Given the description of an element on the screen output the (x, y) to click on. 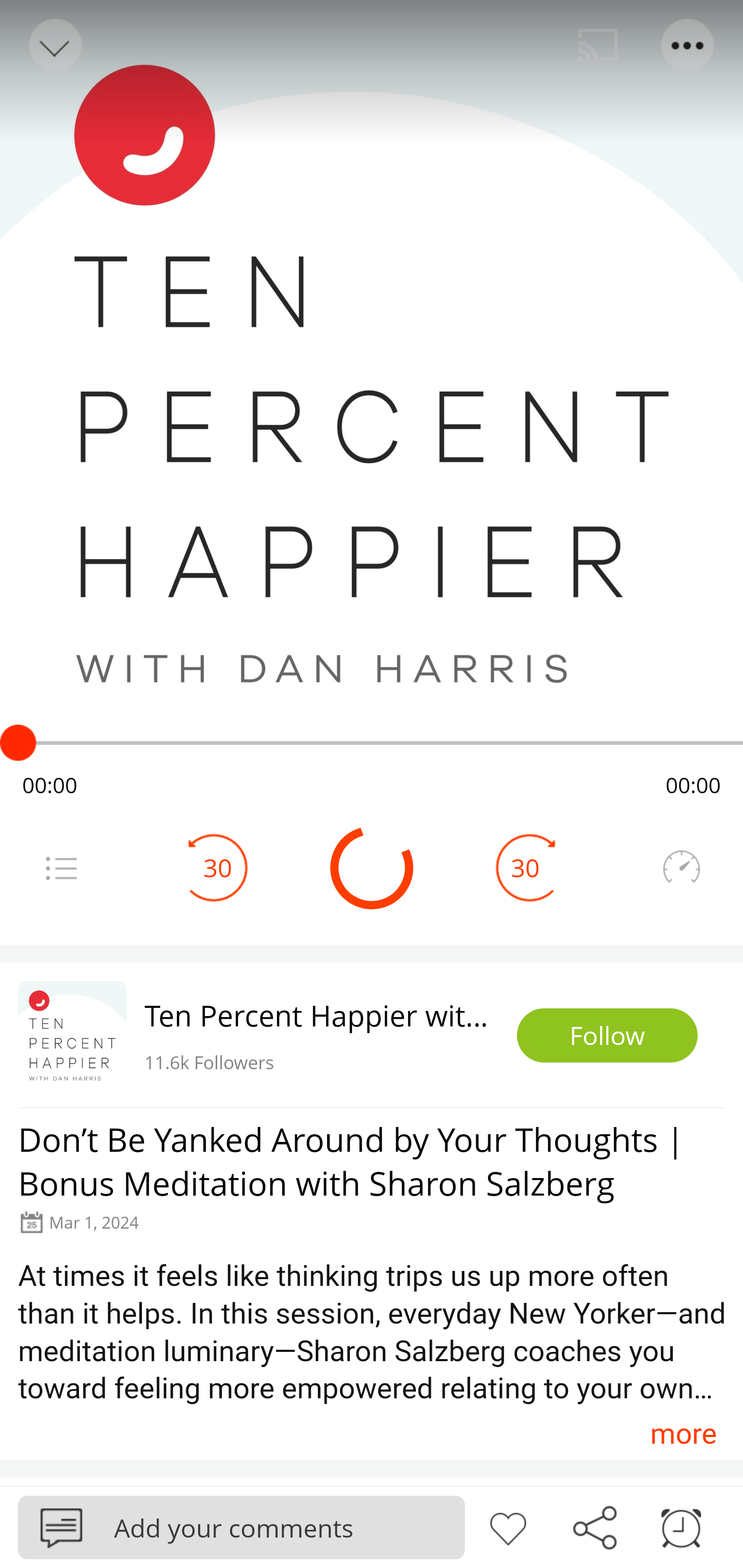
Back (53, 45)
Cast. Disconnected (597, 45)
Menu (688, 45)
30 Seek Backward (217, 867)
30 Seek Forward (525, 867)
Menu (60, 867)
Speedometer (681, 867)
Follow (607, 1035)
more (682, 1432)
Like (508, 1526)
Share (594, 1526)
Sleep timer (681, 1526)
Podbean Add your comments (241, 1526)
